Given the description of an element on the screen output the (x, y) to click on. 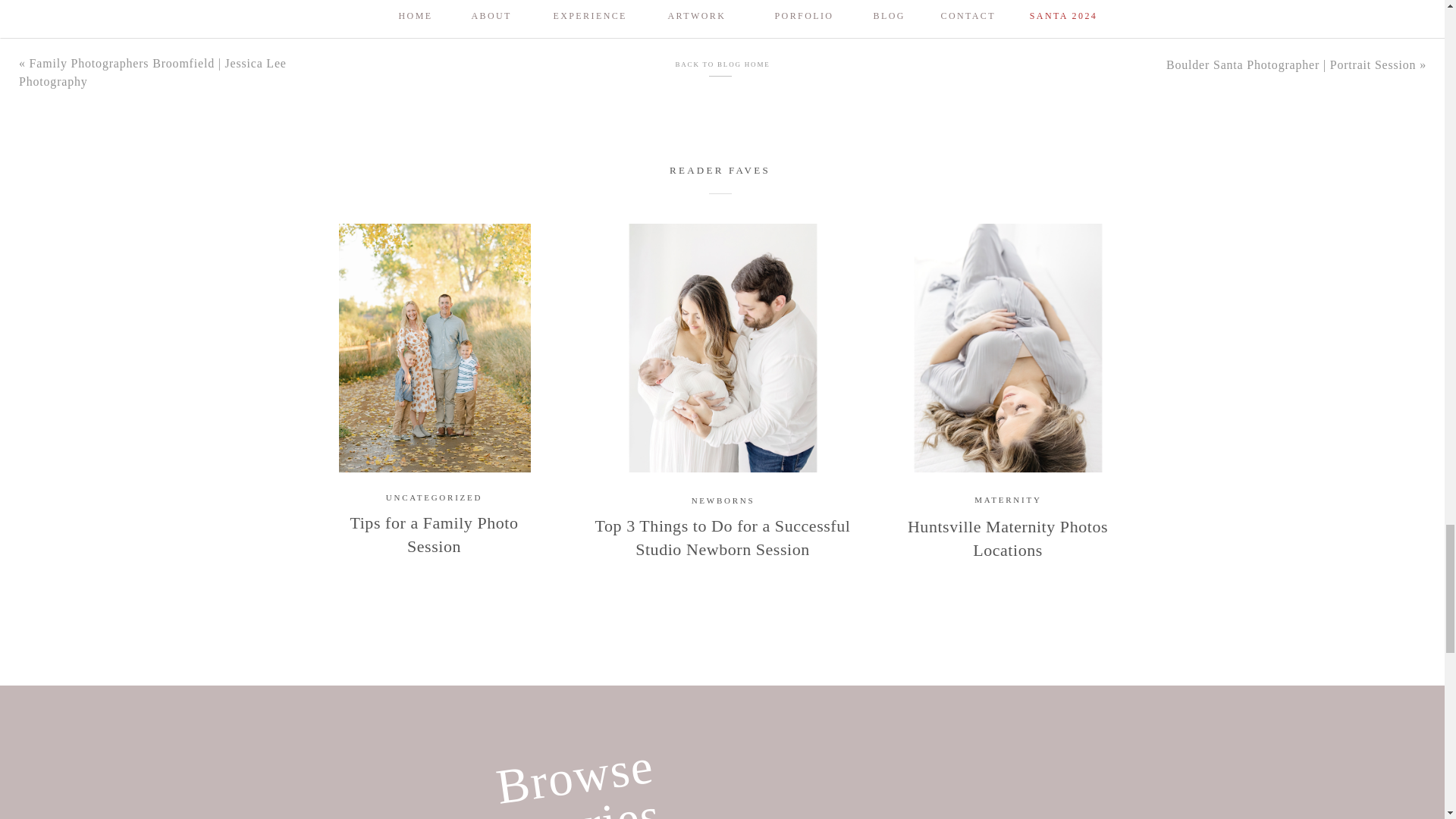
Tips for a Family Photo Session (433, 347)
Top 3 Things to Do for a Successful Studio Newborn Session (722, 347)
Huntsville Maternity Photos Locations (1007, 347)
